Given the description of an element on the screen output the (x, y) to click on. 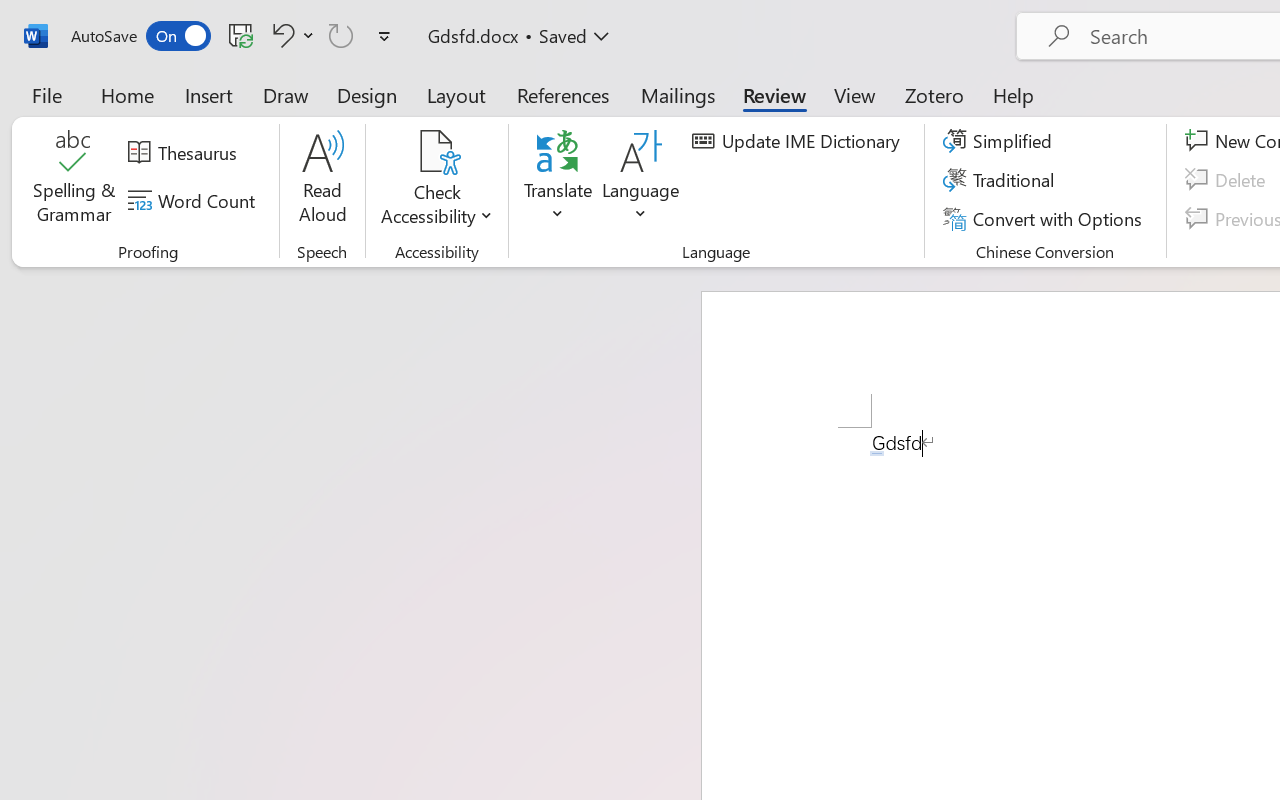
Action: Undo Auto Actions (877, 453)
Traditional (1001, 179)
Update IME Dictionary... (799, 141)
Check Accessibility (436, 179)
Word Count (194, 201)
Undo AutoCorrect (280, 35)
